Given the description of an element on the screen output the (x, y) to click on. 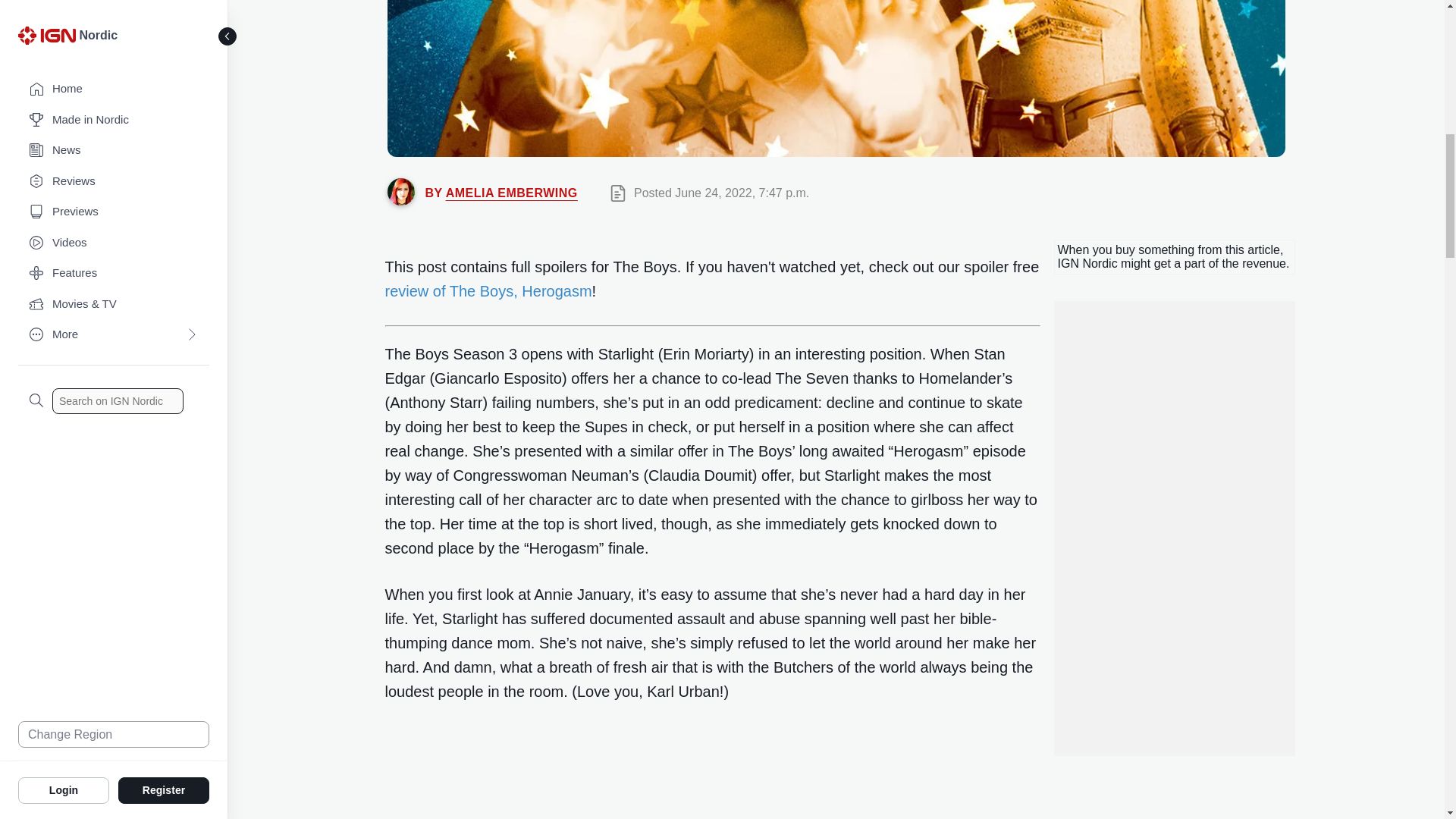
review of The Boys, Herogasm (488, 290)
AMELIA EMBERWING (511, 192)
3rd party ad content (1173, 528)
